Given the description of an element on the screen output the (x, y) to click on. 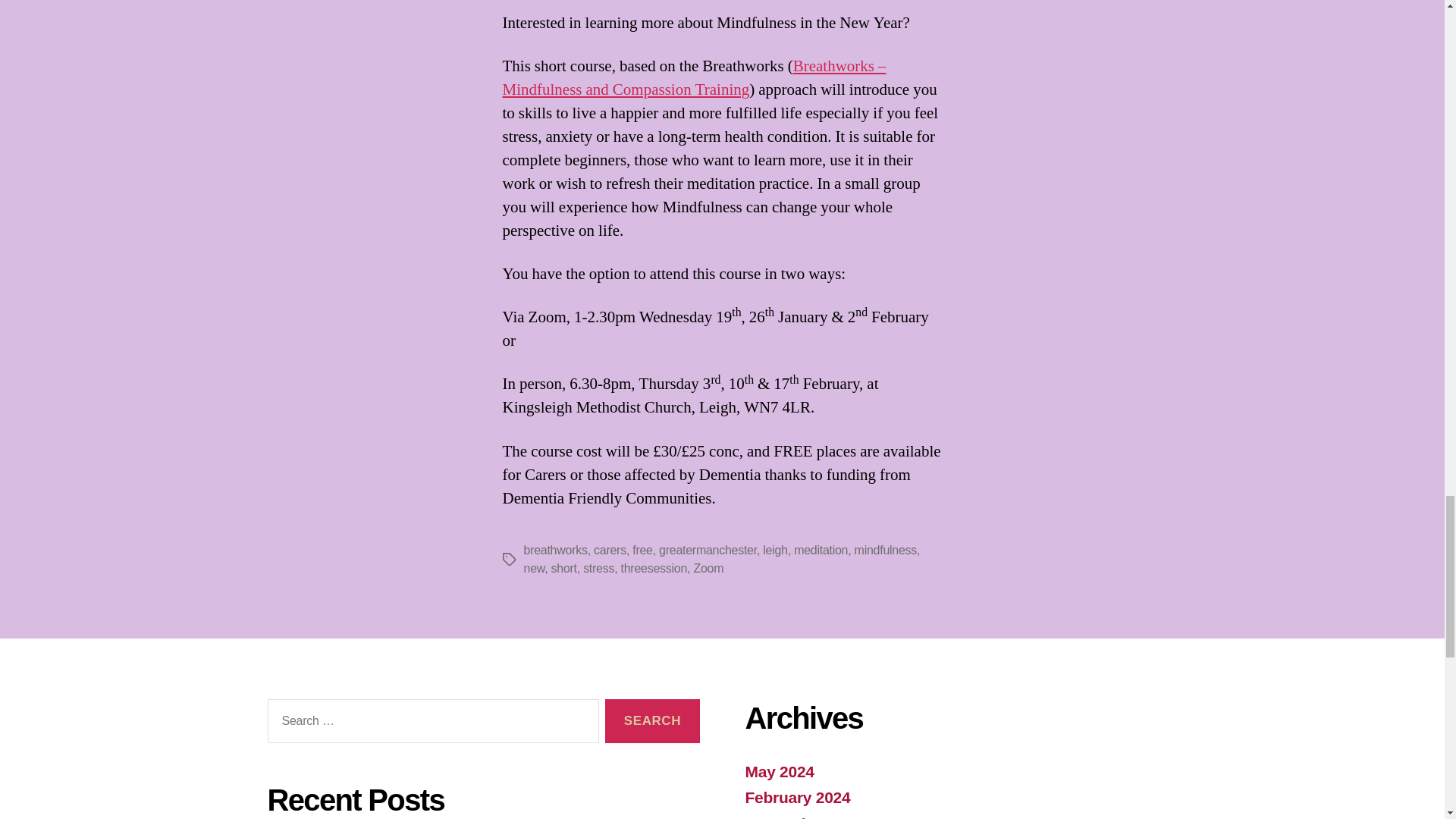
Search (651, 721)
Search (651, 721)
greatermanchester (708, 549)
carers (610, 549)
breathworks (554, 549)
free (641, 549)
